Given the description of an element on the screen output the (x, y) to click on. 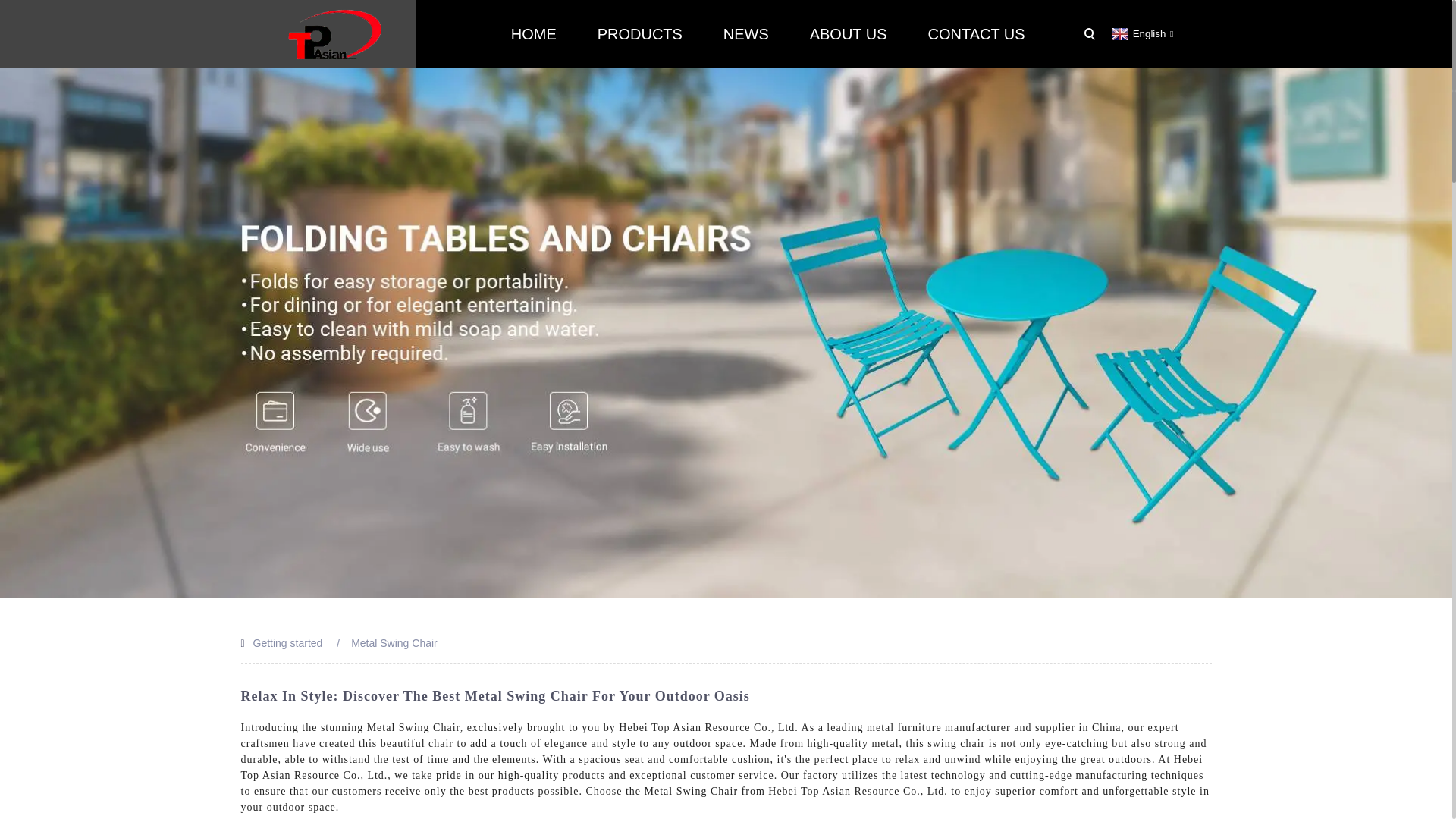
English (1140, 33)
Getting started (288, 643)
Metal Swing Chair (394, 643)
ABOUT US (847, 33)
PRODUCTS (639, 33)
CONTACT US (976, 33)
